Given the description of an element on the screen output the (x, y) to click on. 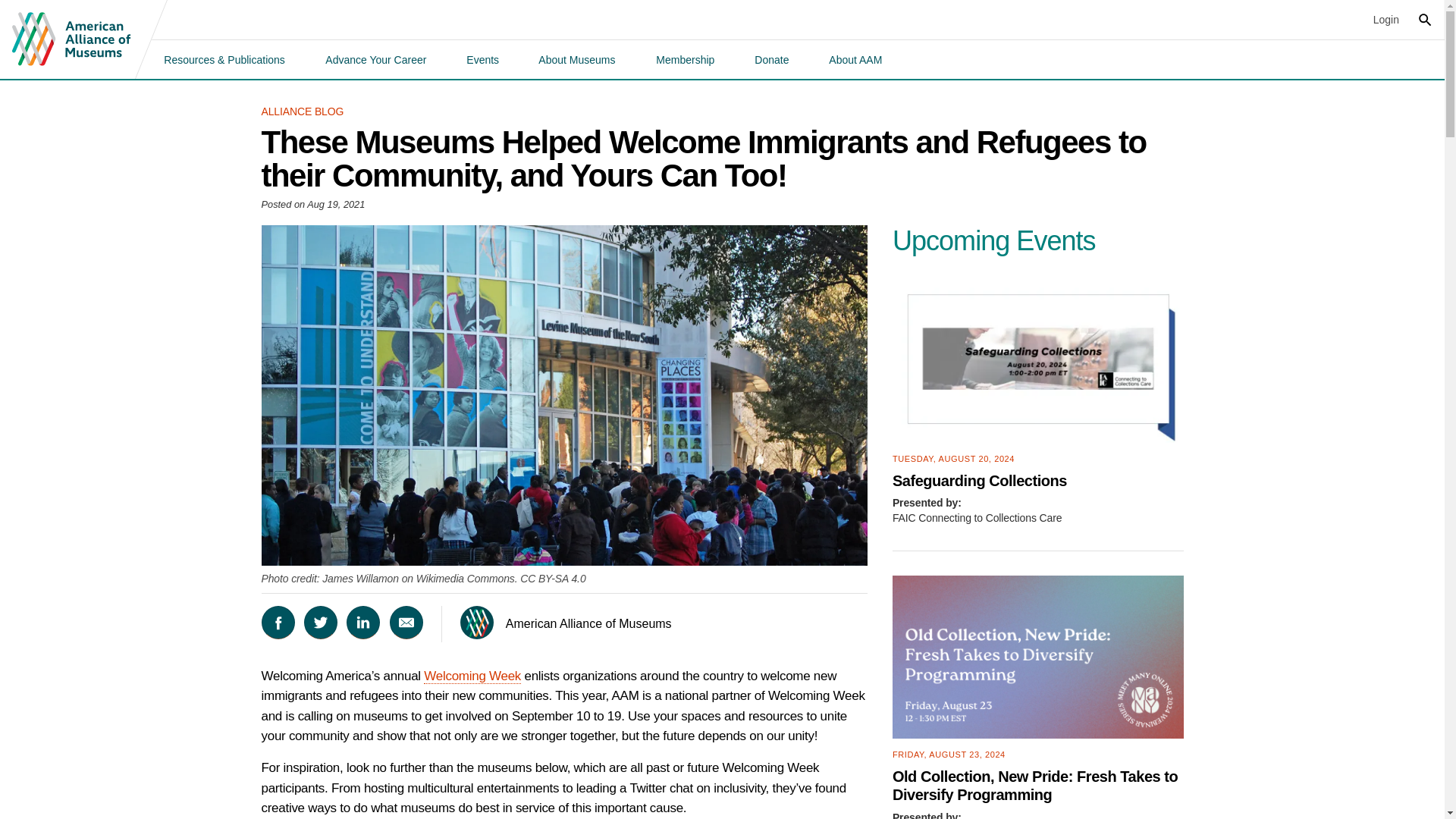
Twitter (320, 622)
AAM Homepage (71, 39)
Email (406, 622)
Events (481, 59)
Advance Your Career (374, 59)
LinkedIn (363, 622)
About Museums (576, 59)
Facebook (277, 622)
